Given the description of an element on the screen output the (x, y) to click on. 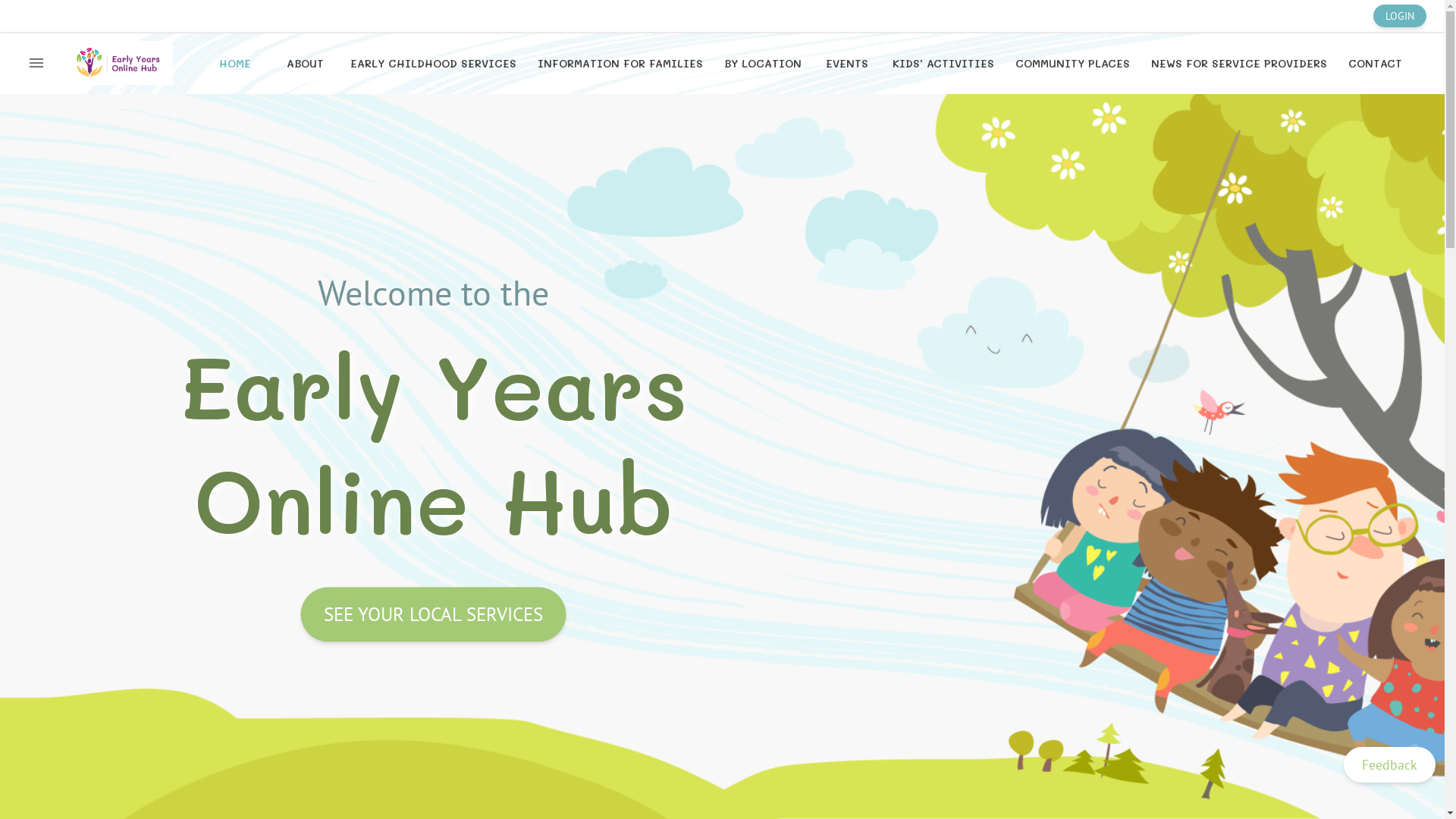
SEE YOUR LOCAL SERVICES Element type: text (432, 614)
LOGIN Element type: text (1399, 15)
Feedback Element type: text (1389, 764)
